Given the description of an element on the screen output the (x, y) to click on. 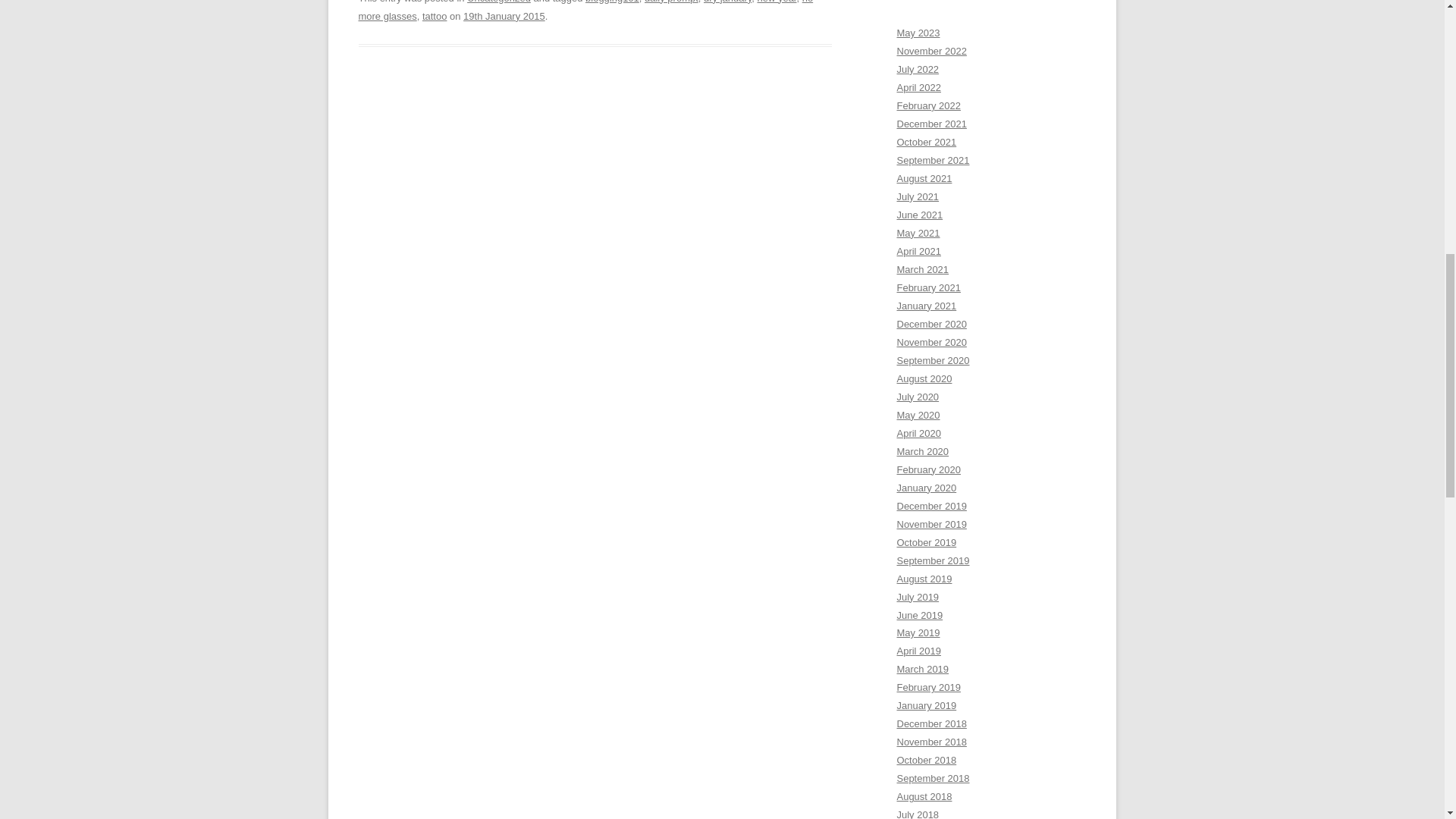
July 2021 (917, 196)
October 2021 (926, 142)
dry january (727, 2)
no more glasses (585, 11)
19th January 2015 (503, 16)
new year (776, 2)
May 2023 (917, 32)
Uncategorized (499, 2)
daily prompt (671, 2)
March 2021 (922, 269)
December 2021 (931, 123)
June 2021 (919, 214)
blogging101 (612, 2)
April 2021 (918, 251)
July 2022 (917, 69)
